Given the description of an element on the screen output the (x, y) to click on. 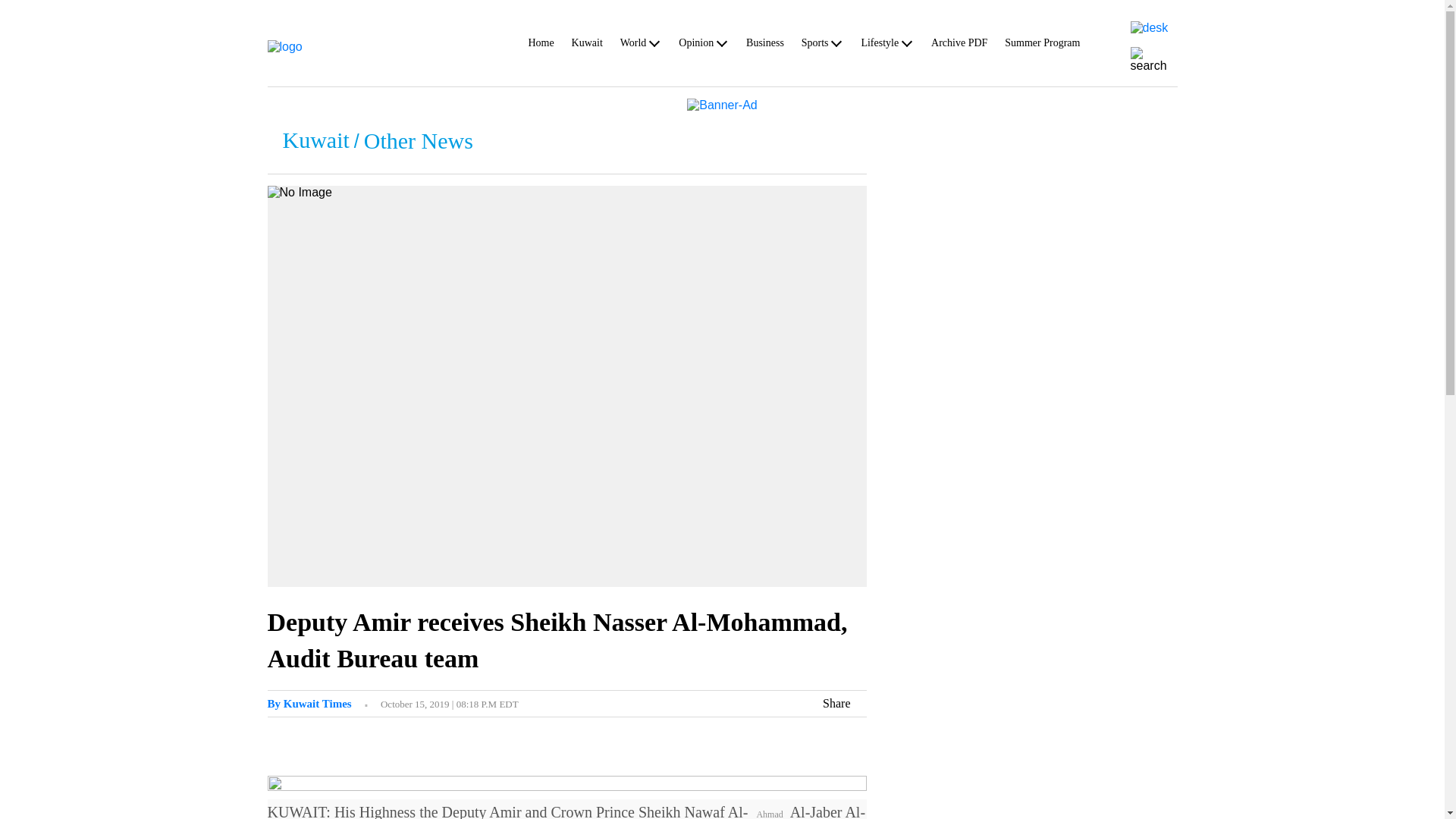
Other News (418, 141)
Business (764, 46)
Sports (815, 46)
Home (540, 46)
Summer Program (1042, 46)
Lifestyle (879, 46)
Business (764, 46)
Summer Program (1042, 46)
Home (540, 46)
Archive PDF (959, 46)
Kuwait (587, 46)
pdf (1148, 26)
kuwaittimes.com (283, 46)
Opinion (695, 46)
